Given the description of an element on the screen output the (x, y) to click on. 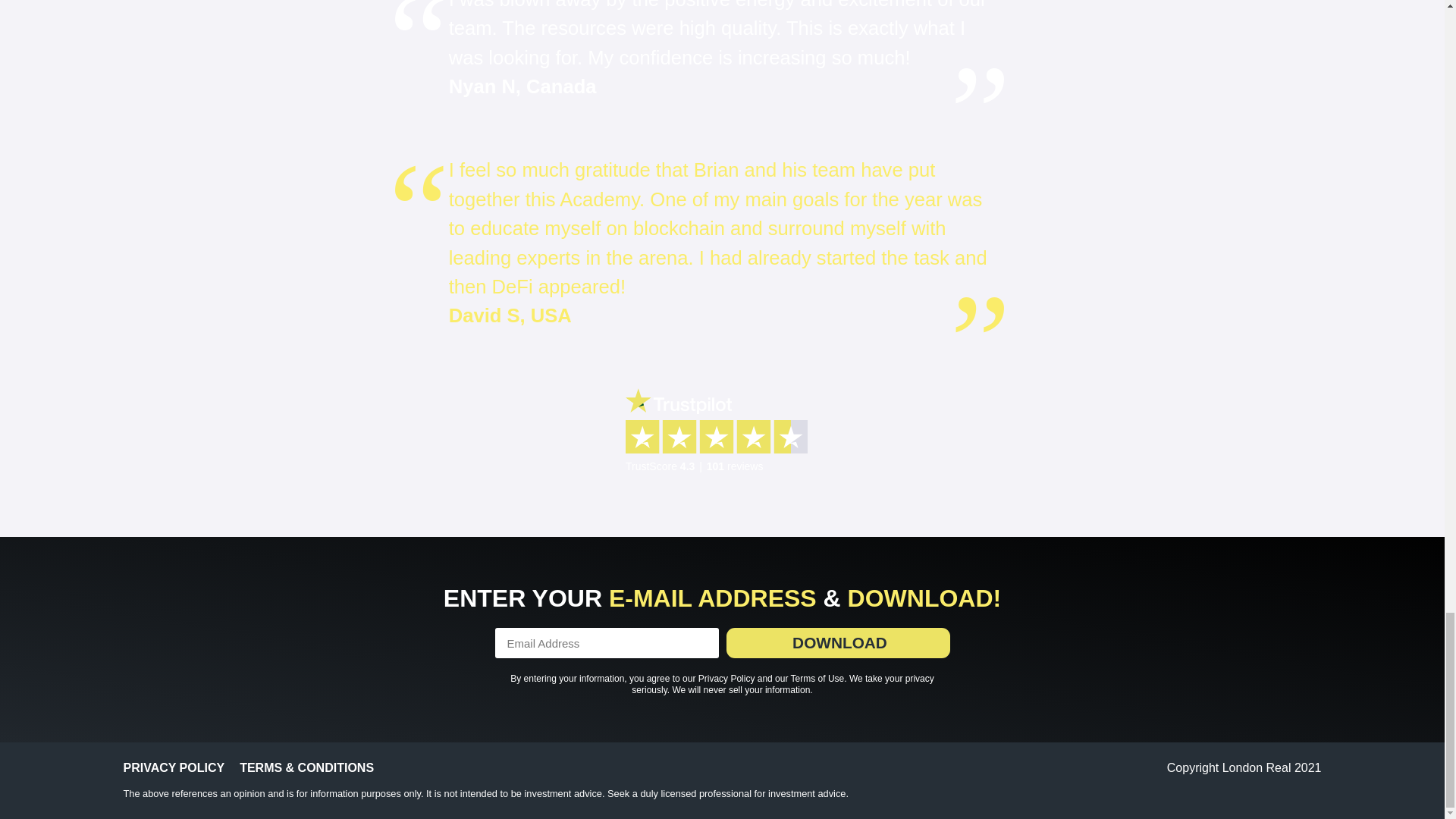
DOWNLOAD (838, 643)
TrustScore 4.3 101 reviews (722, 430)
PRIVACY POLICY (173, 767)
